Given the description of an element on the screen output the (x, y) to click on. 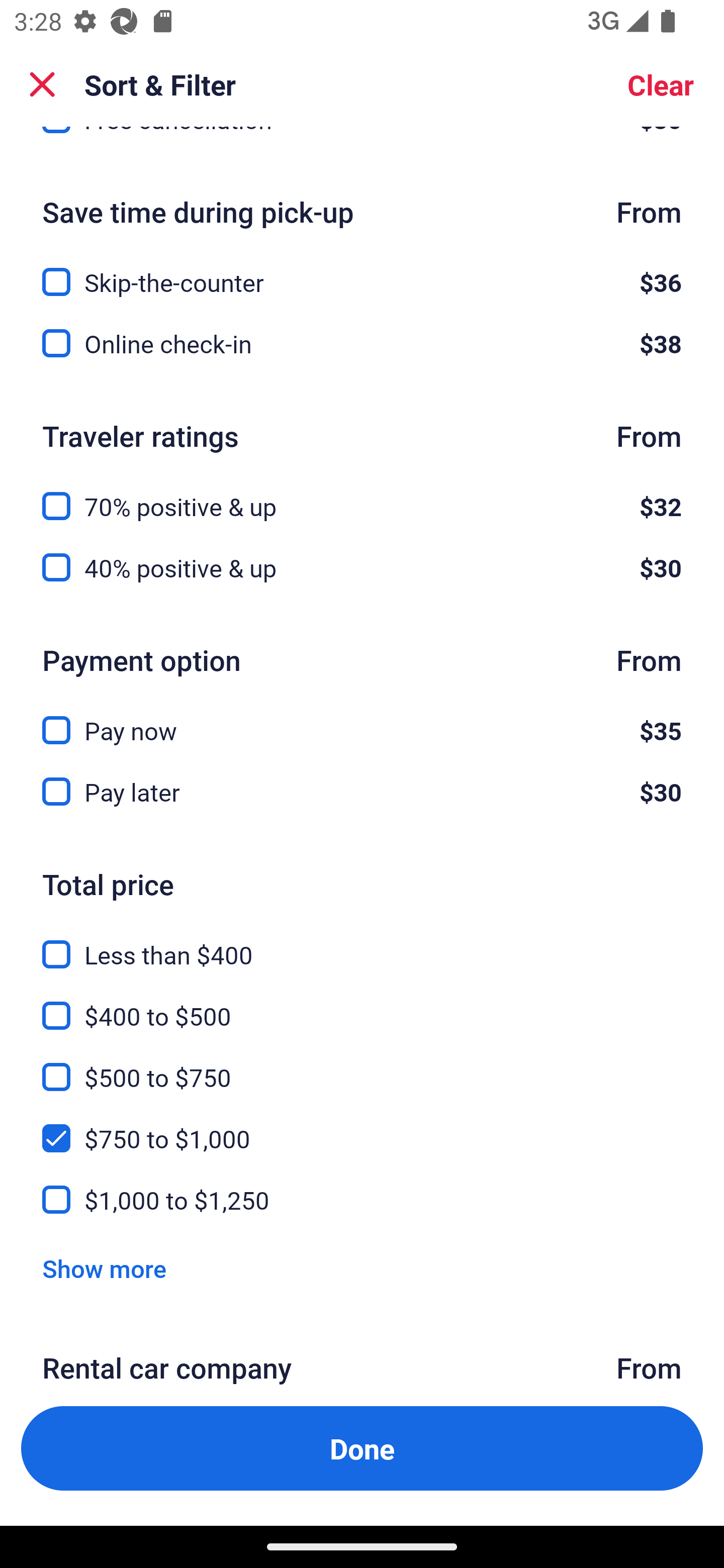
Close Sort and Filter (42, 84)
Clear (660, 84)
Skip-the-counter, $36 Skip-the-counter $36 (361, 270)
Online check-in, $38 Online check-in $38 (361, 343)
70% positive & up, $32 70% positive & up $32 (361, 494)
40% positive & up, $30 40% positive & up $30 (361, 567)
Pay now, $35 Pay now $35 (361, 718)
Pay later, $30 Pay later $30 (361, 791)
Less than $400, Less than $400 (361, 942)
$400 to $500, $400 to $500 (361, 1003)
$500 to $750, $500 to $750 (361, 1065)
$750 to $1,000, $750 to $1,000 (361, 1126)
$1,000 to $1,250, $1,000 to $1,250 (361, 1199)
Show more Show more Link (103, 1268)
Apply and close Sort and Filter Done (361, 1448)
